Given the description of an element on the screen output the (x, y) to click on. 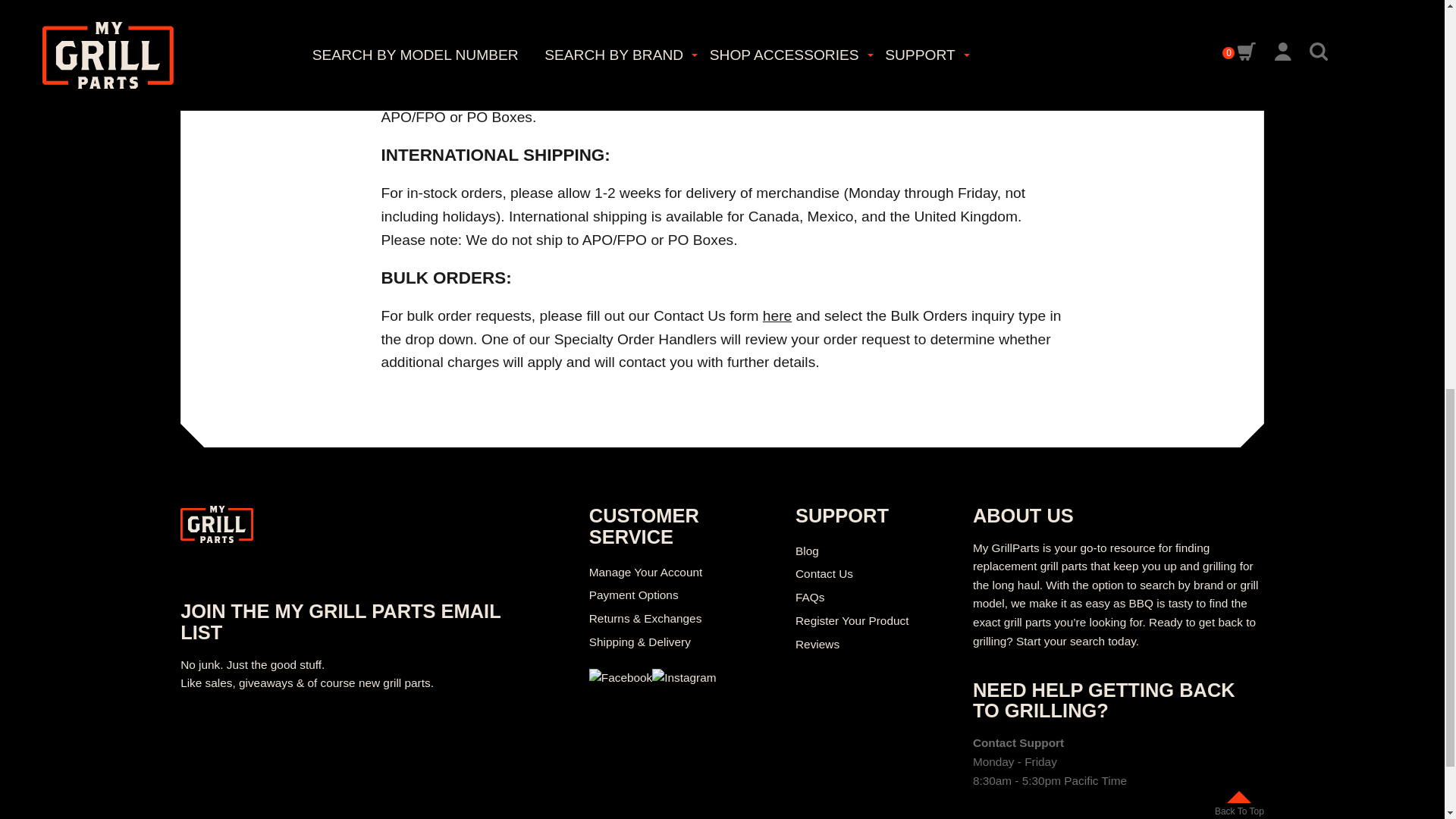
Contact Us (823, 573)
Manage Your Account (645, 571)
Blog (806, 550)
FAQs (809, 596)
Register Your Product (851, 620)
Contact Us (777, 315)
Reviews (817, 644)
Payment Options (633, 594)
here (777, 315)
